Given the description of an element on the screen output the (x, y) to click on. 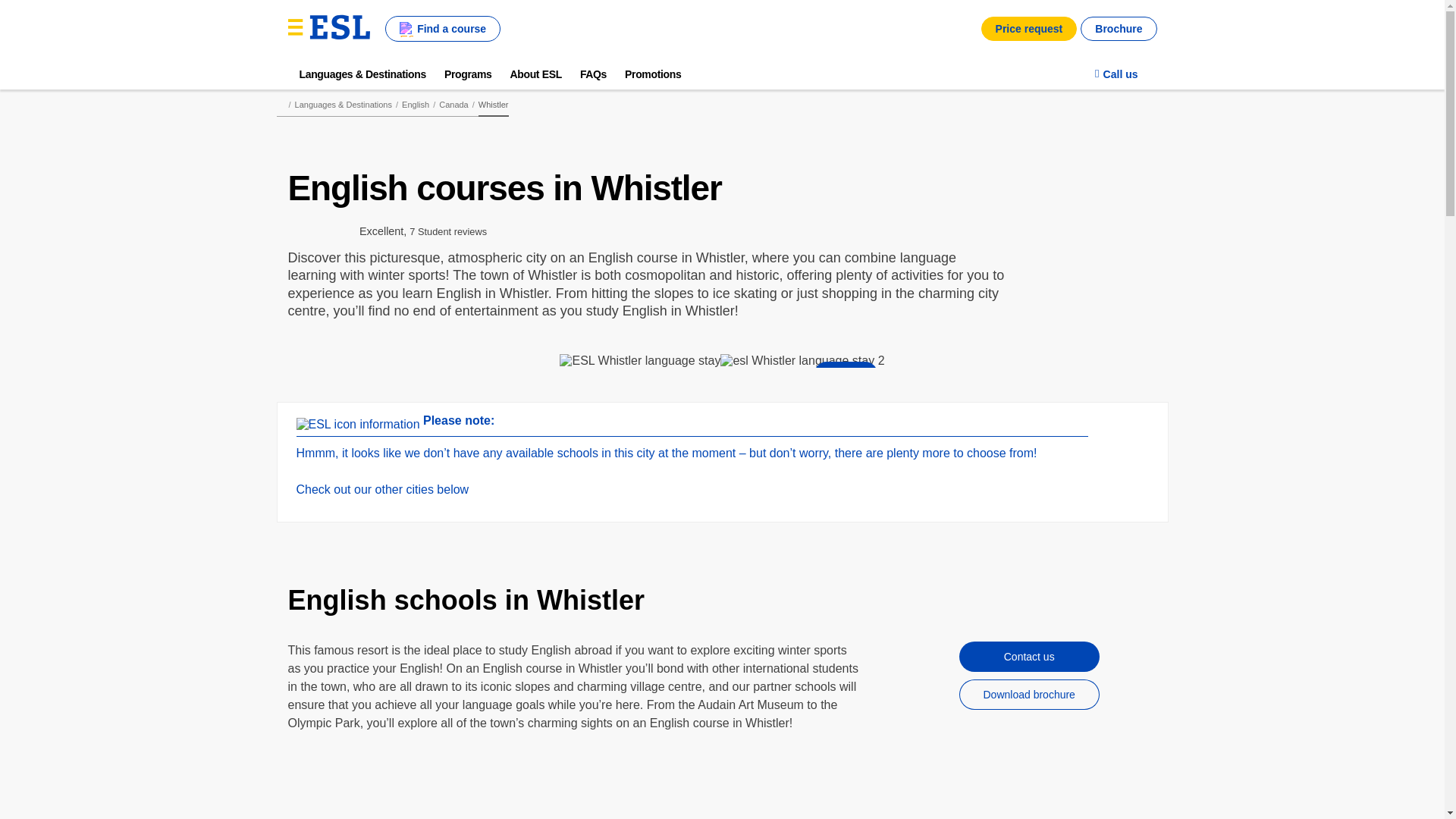
Price request (1029, 28)
Brochure (1118, 28)
Find a course (442, 28)
